Given the description of an element on the screen output the (x, y) to click on. 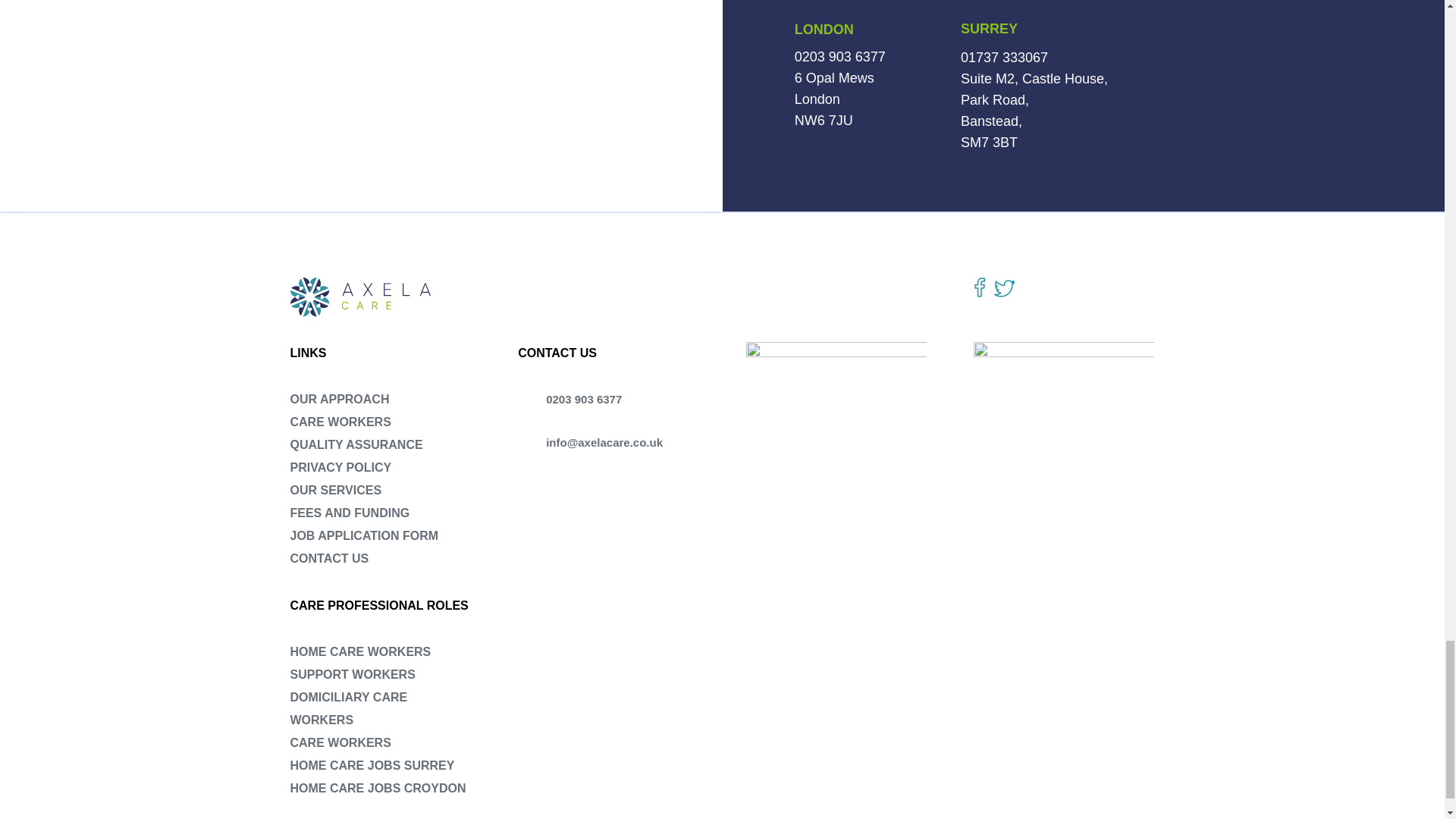
01737 333067 (1004, 57)
CARE WORKERS (339, 421)
Axela Logo svg (361, 296)
twitter (1004, 288)
0203 903 6377 (839, 56)
iso-9000 (835, 387)
logo3 (1064, 422)
OUR APPROACH (338, 399)
QUALITY ASSURANCE (355, 444)
